Given the description of an element on the screen output the (x, y) to click on. 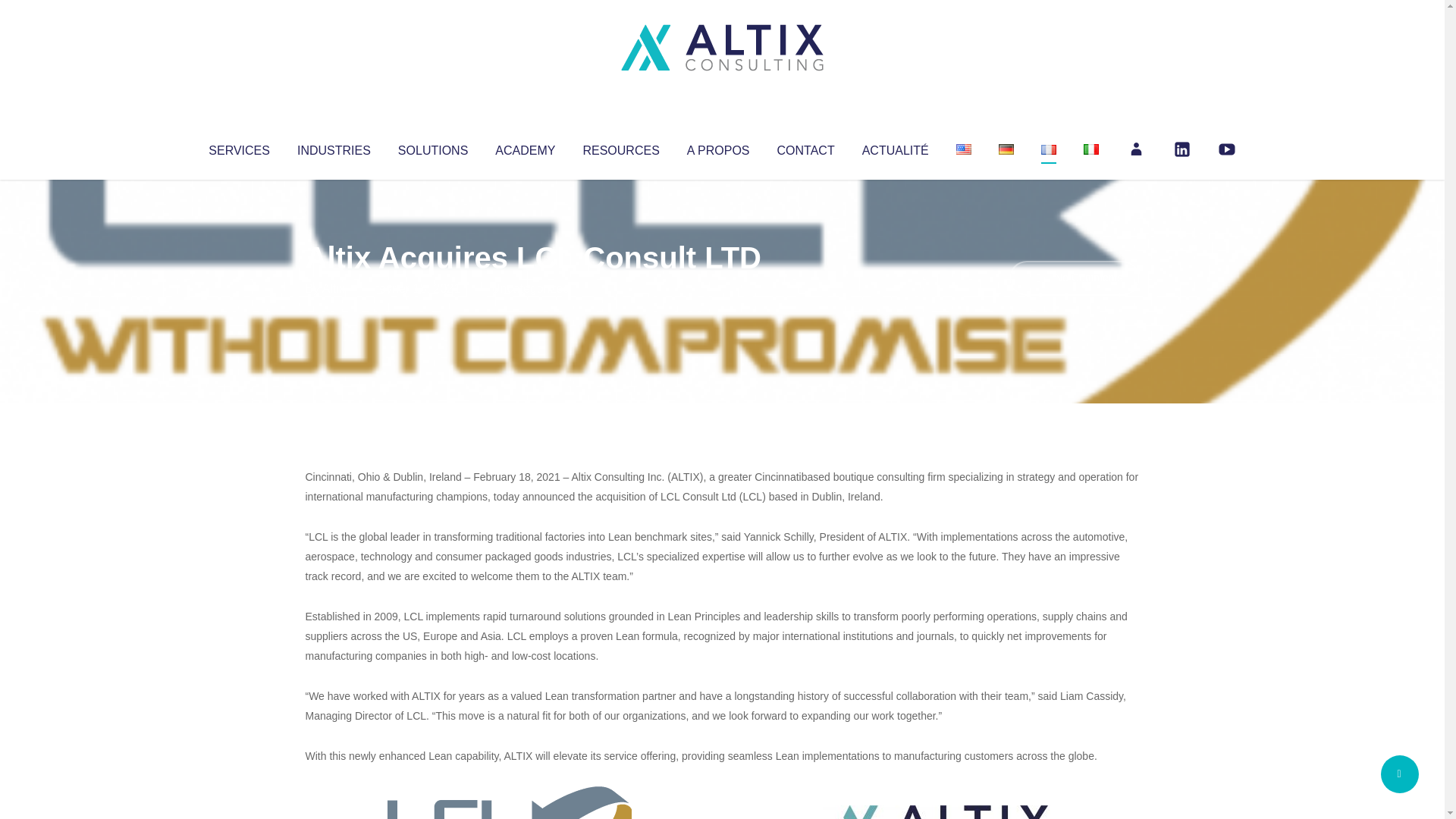
INDUSTRIES (334, 146)
A PROPOS (718, 146)
SOLUTIONS (432, 146)
Altix (333, 287)
No Comments (1073, 278)
ACADEMY (524, 146)
Articles par Altix (333, 287)
Uncategorized (530, 287)
RESOURCES (620, 146)
SERVICES (238, 146)
